Given the description of an element on the screen output the (x, y) to click on. 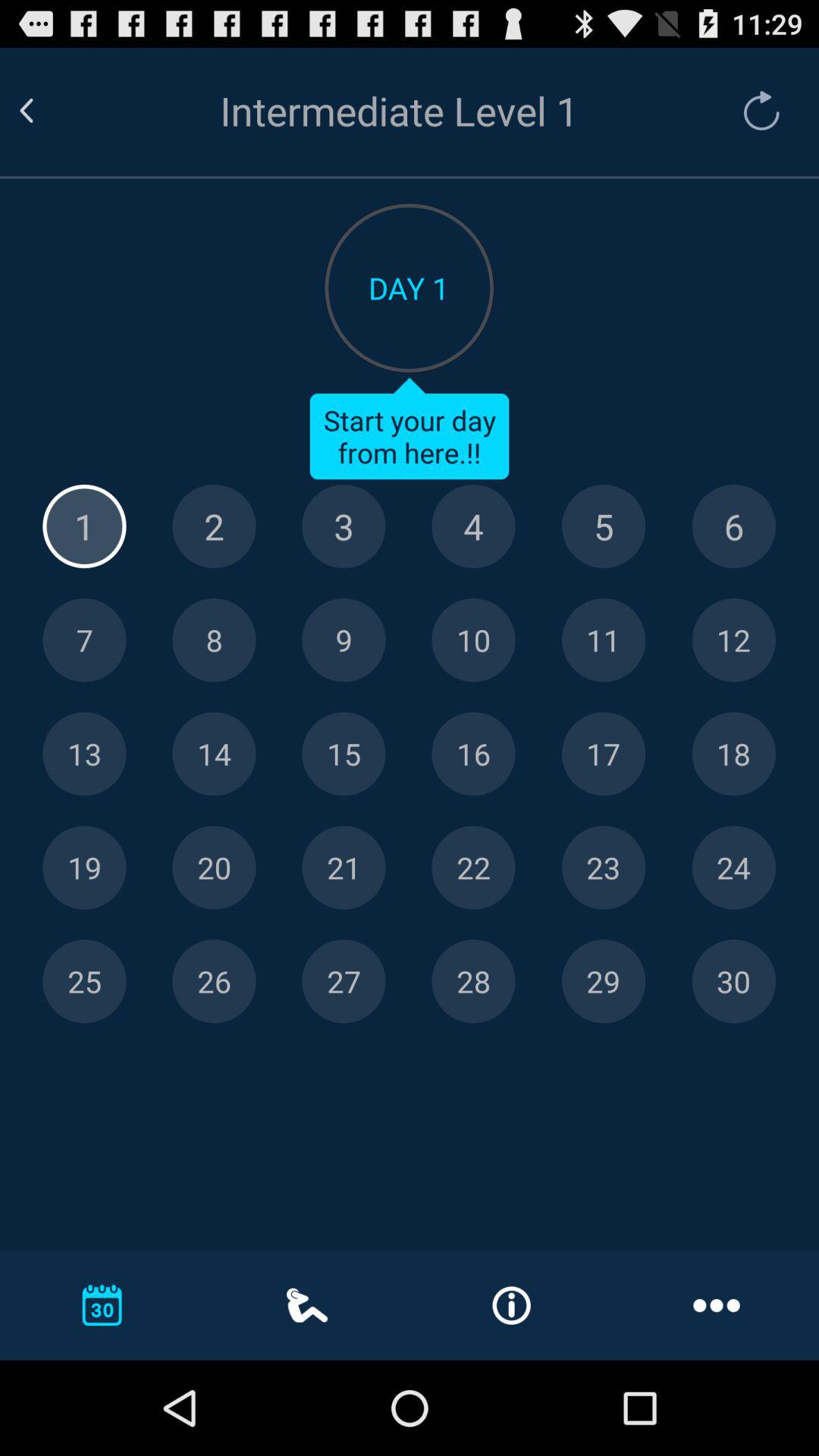
select day 20 (213, 867)
